Given the description of an element on the screen output the (x, y) to click on. 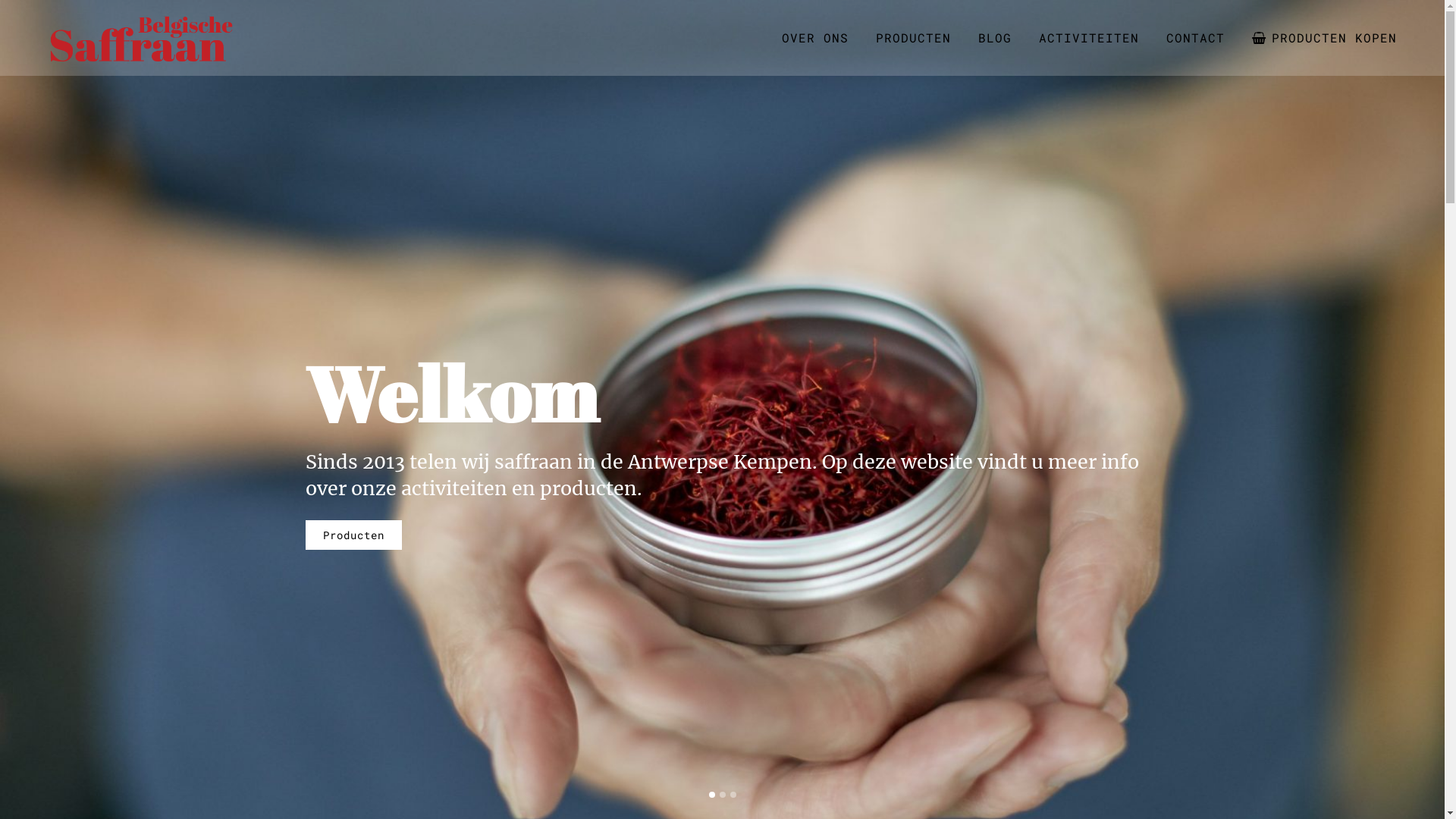
OVER ONS Element type: text (815, 37)
BLOG Element type: text (994, 37)
PRODUCTEN KOPEN Element type: text (1324, 37)
PRODUCTEN Element type: text (913, 37)
CONTACT Element type: text (1195, 37)
Producten Element type: text (352, 534)
ACTIVITEITEN Element type: text (1088, 37)
